Given the description of an element on the screen output the (x, y) to click on. 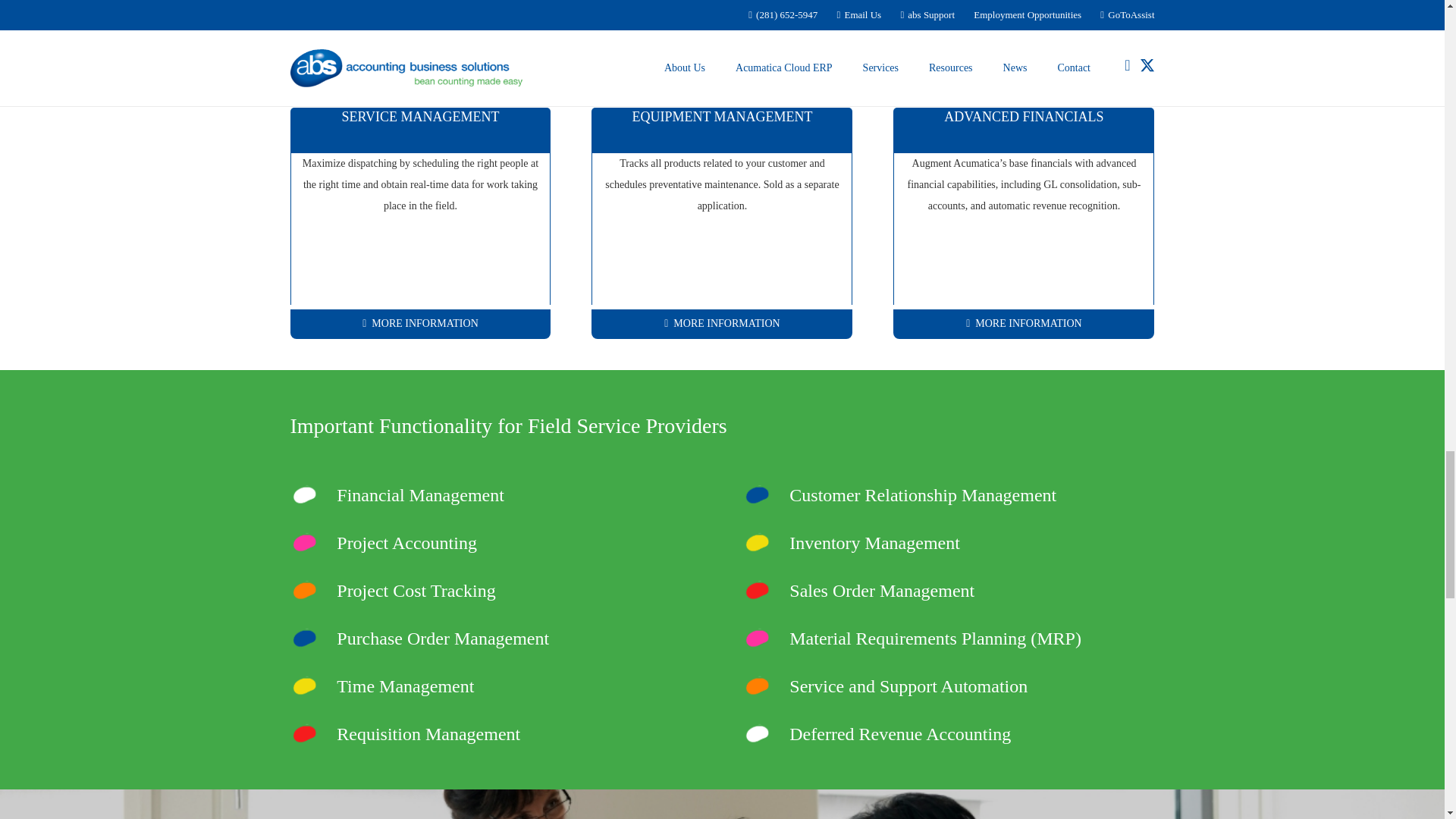
MORE INFORMATION (419, 324)
Acumatica Service Management (419, 324)
Acumatica Cloud ERP: Financial Management (1023, 324)
Acumatica Equipment Management (721, 324)
